Given the description of an element on the screen output the (x, y) to click on. 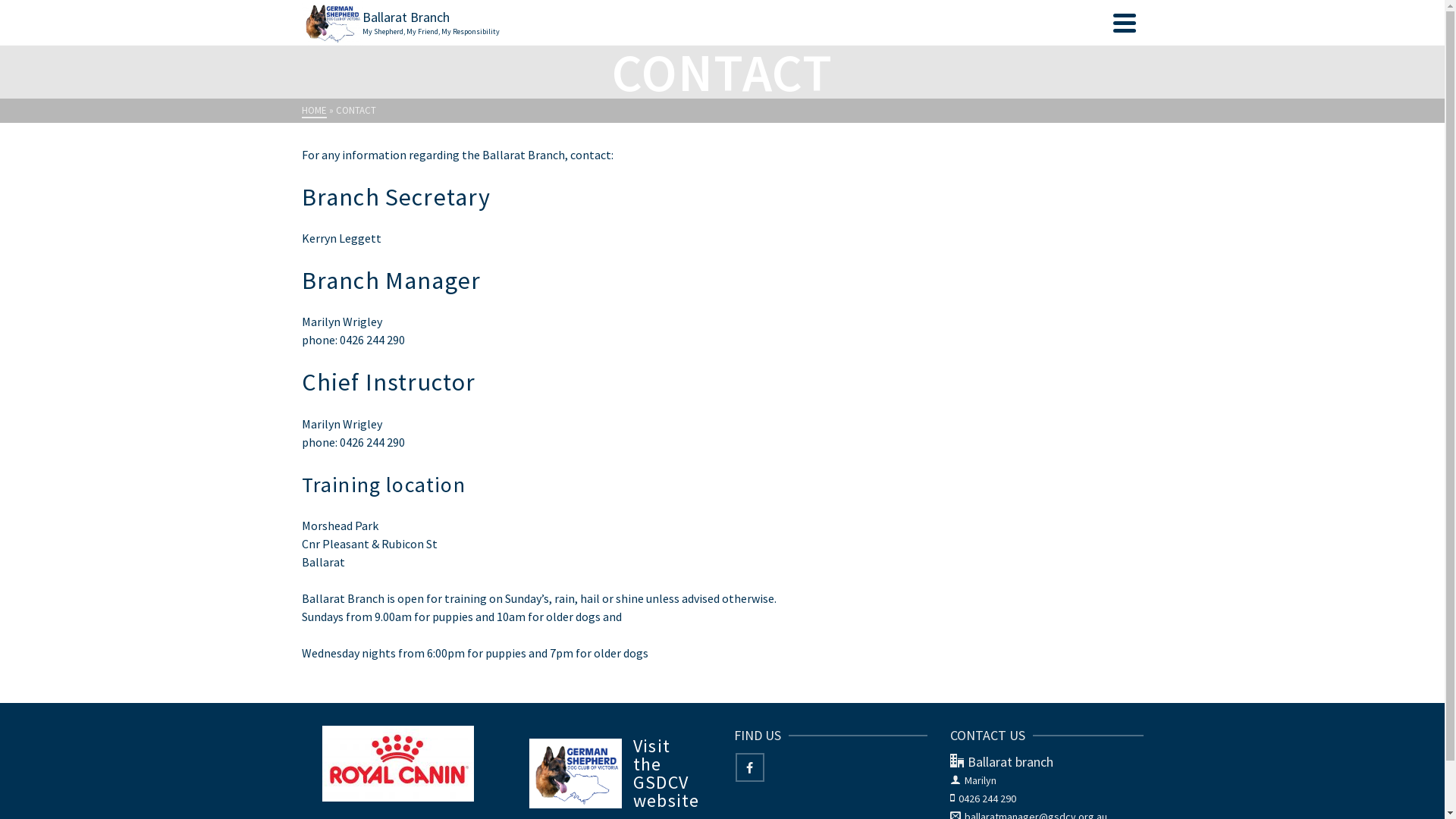
Ballarat Branch
My Shepherd, My Friend, My Responsibility Element type: text (703, 22)
HOME Element type: text (313, 110)
